Given the description of an element on the screen output the (x, y) to click on. 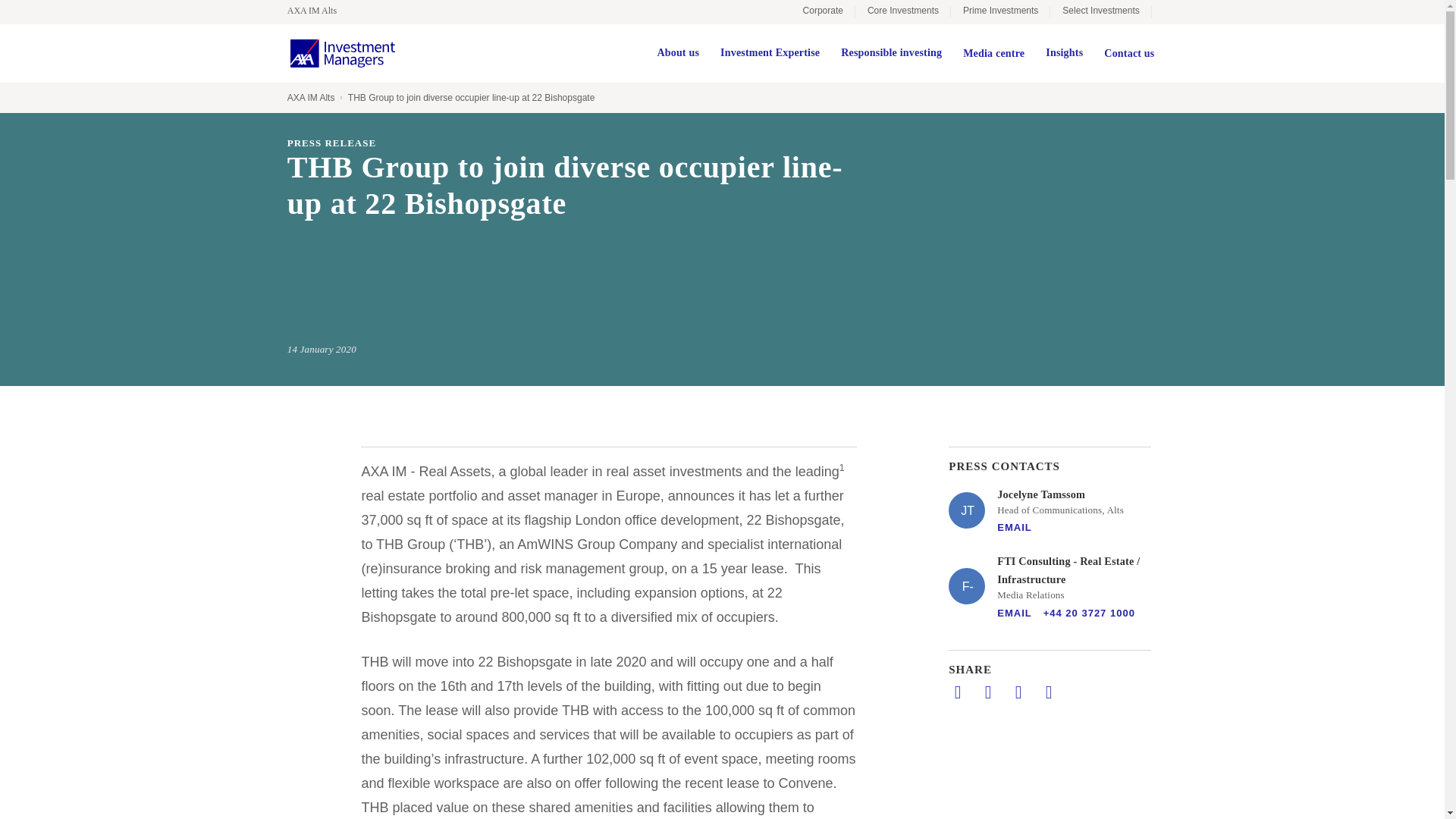
Investment Expertise (769, 53)
AXA IM Alts, Home (319, 10)
Share on twitter - New window (987, 692)
Corporate (823, 12)
Prime Investments (999, 12)
AXA Investment Managers, Home (341, 53)
Core Investments (903, 12)
Copy URL (1048, 692)
Share on LinkedIn - New window (957, 692)
AXA IM Alts (319, 10)
